Given the description of an element on the screen output the (x, y) to click on. 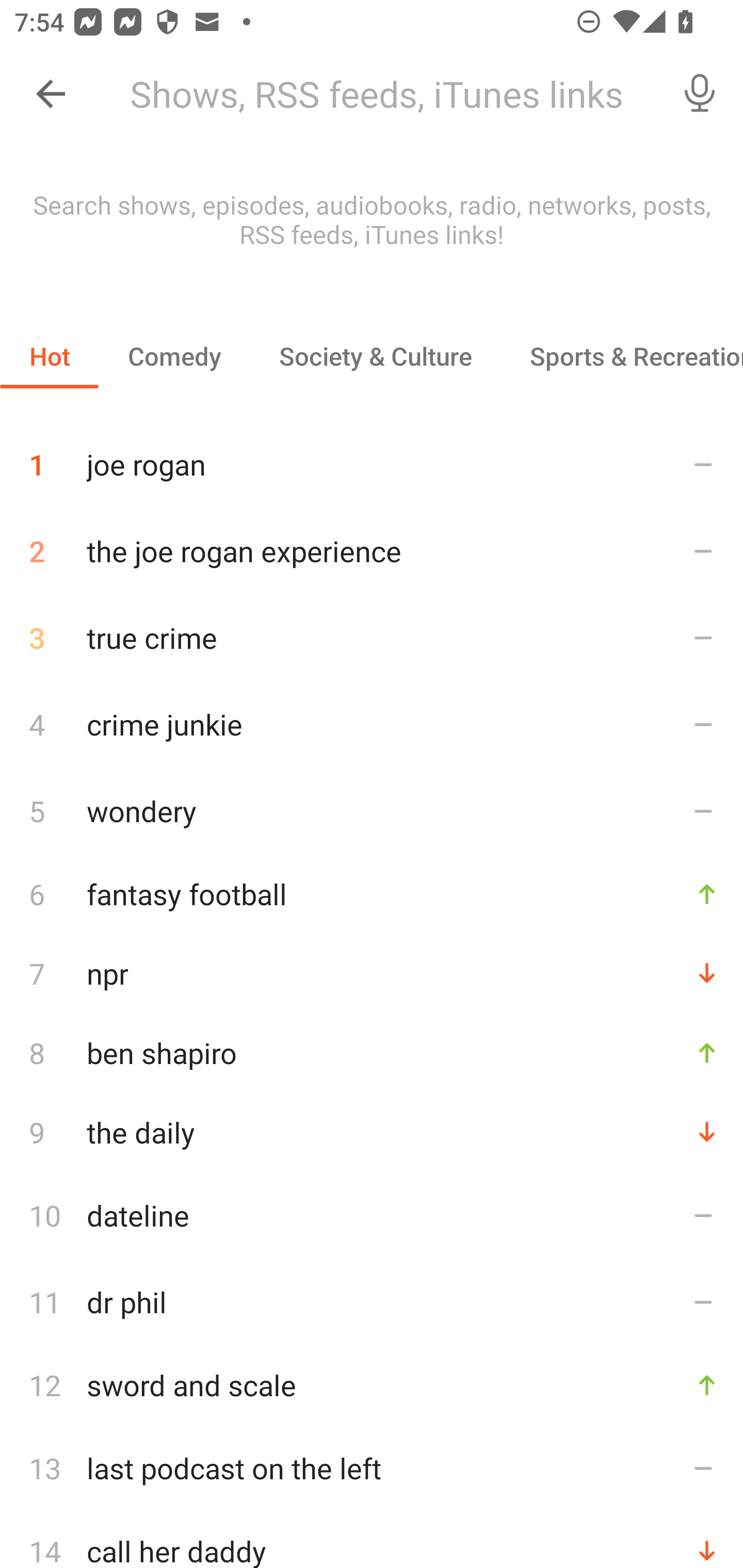
Collapse (50, 93)
Voice Search (699, 93)
Shows, RSS feeds, iTunes links (385, 94)
Hot (49, 355)
Comedy (173, 355)
Society & Culture (374, 355)
Sports & Recreation (621, 355)
1 joe rogan (371, 457)
2 the joe rogan experience (371, 551)
3 true crime (371, 637)
4 crime junkie (371, 723)
5 wondery (371, 810)
6 fantasy football (371, 893)
7 npr (371, 972)
8 ben shapiro (371, 1052)
9 the daily (371, 1131)
10 dateline (371, 1215)
11 dr phil (371, 1302)
12 sword and scale (371, 1385)
13 last podcast on the left (371, 1468)
14 call her daddy (371, 1539)
